Given the description of an element on the screen output the (x, y) to click on. 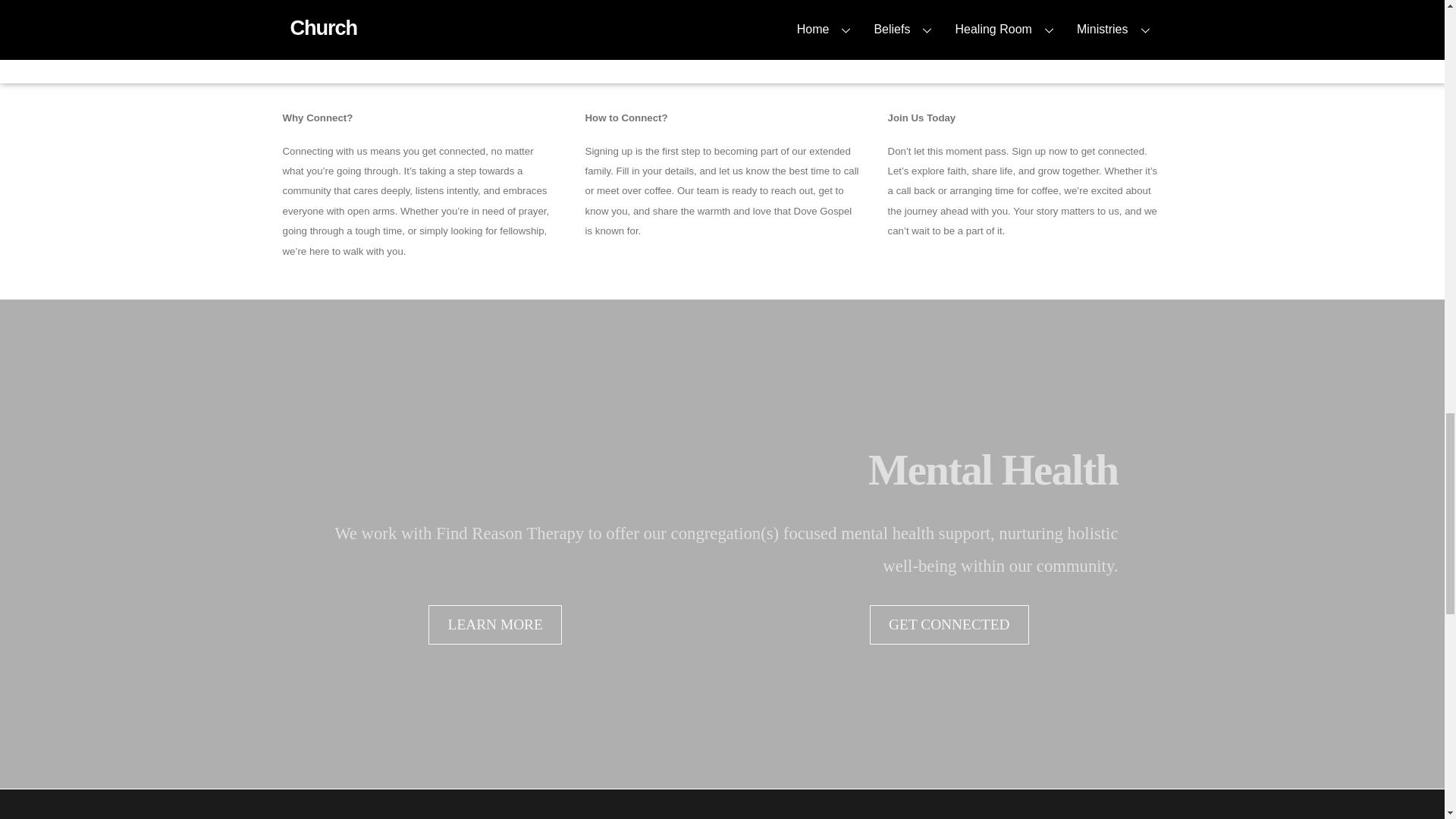
LEARN MORE (495, 624)
GET CONNECTED (949, 624)
Submit (774, 20)
Submit (774, 20)
Jesus (721, 809)
